Given the description of an element on the screen output the (x, y) to click on. 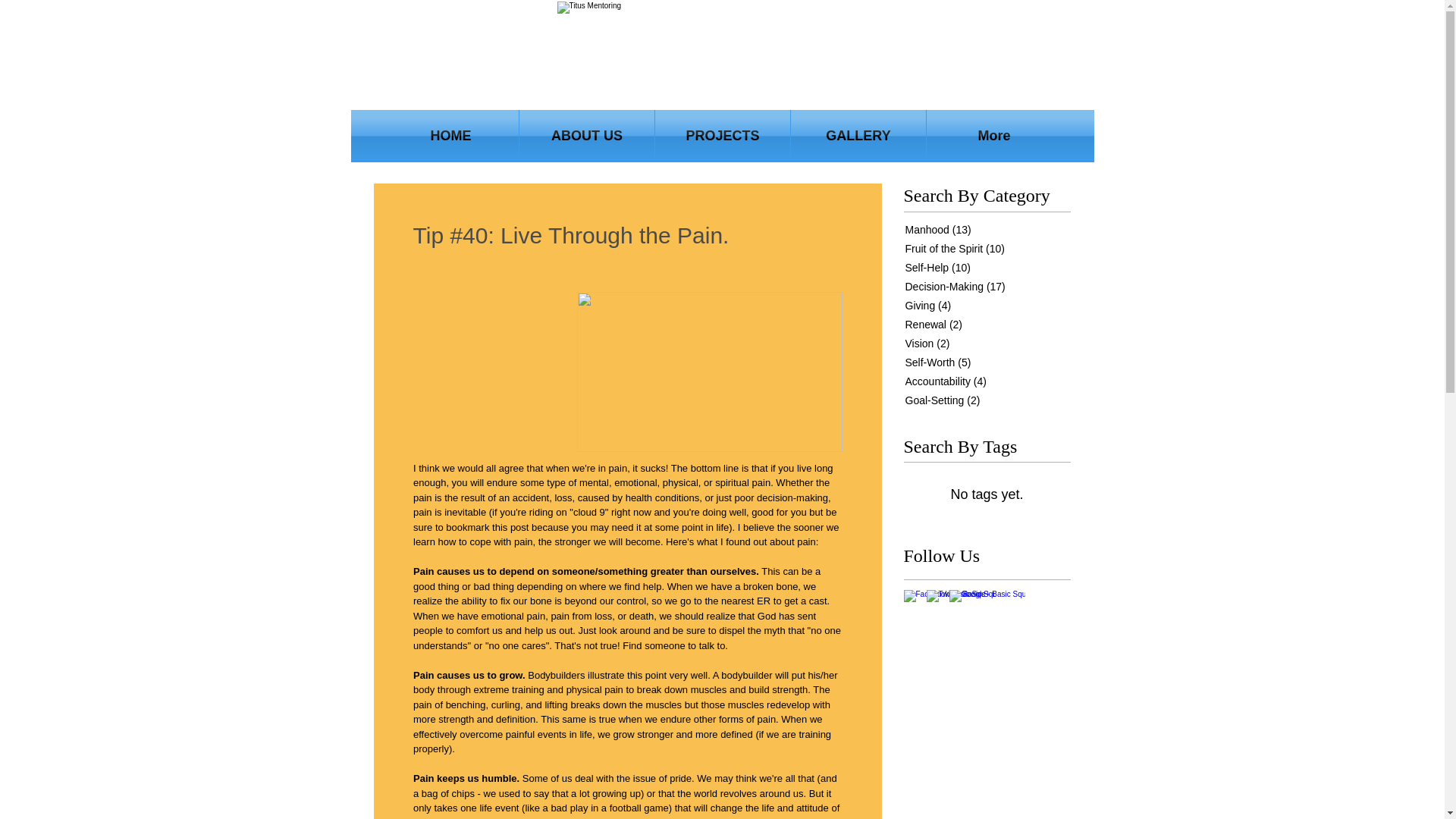
GALLERY (858, 135)
PROJECTS (722, 135)
ABOUT US (586, 135)
HOME (450, 135)
